Given the description of an element on the screen output the (x, y) to click on. 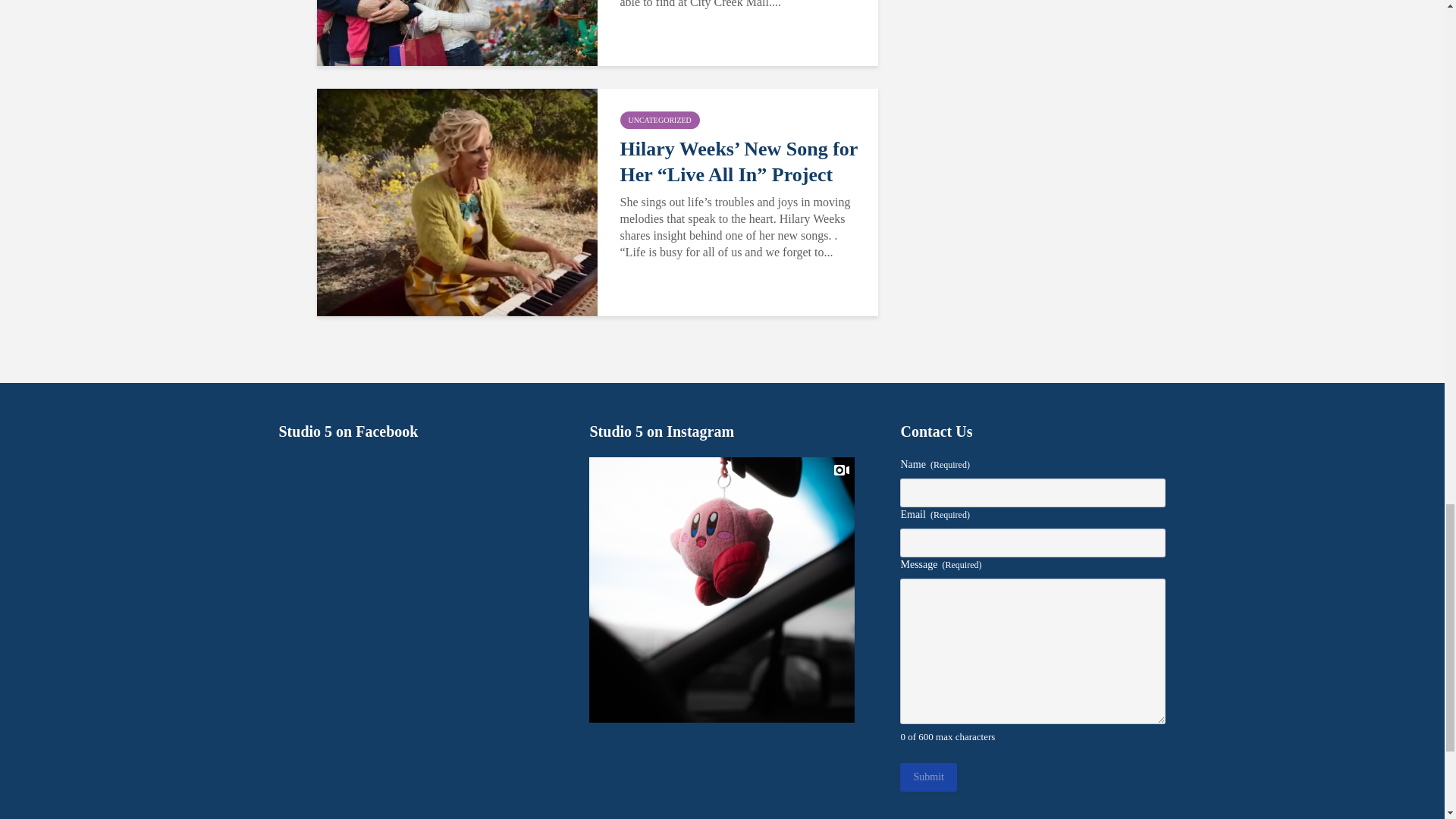
UNCATEGORIZED (660, 119)
Submit (927, 776)
